Given the description of an element on the screen output the (x, y) to click on. 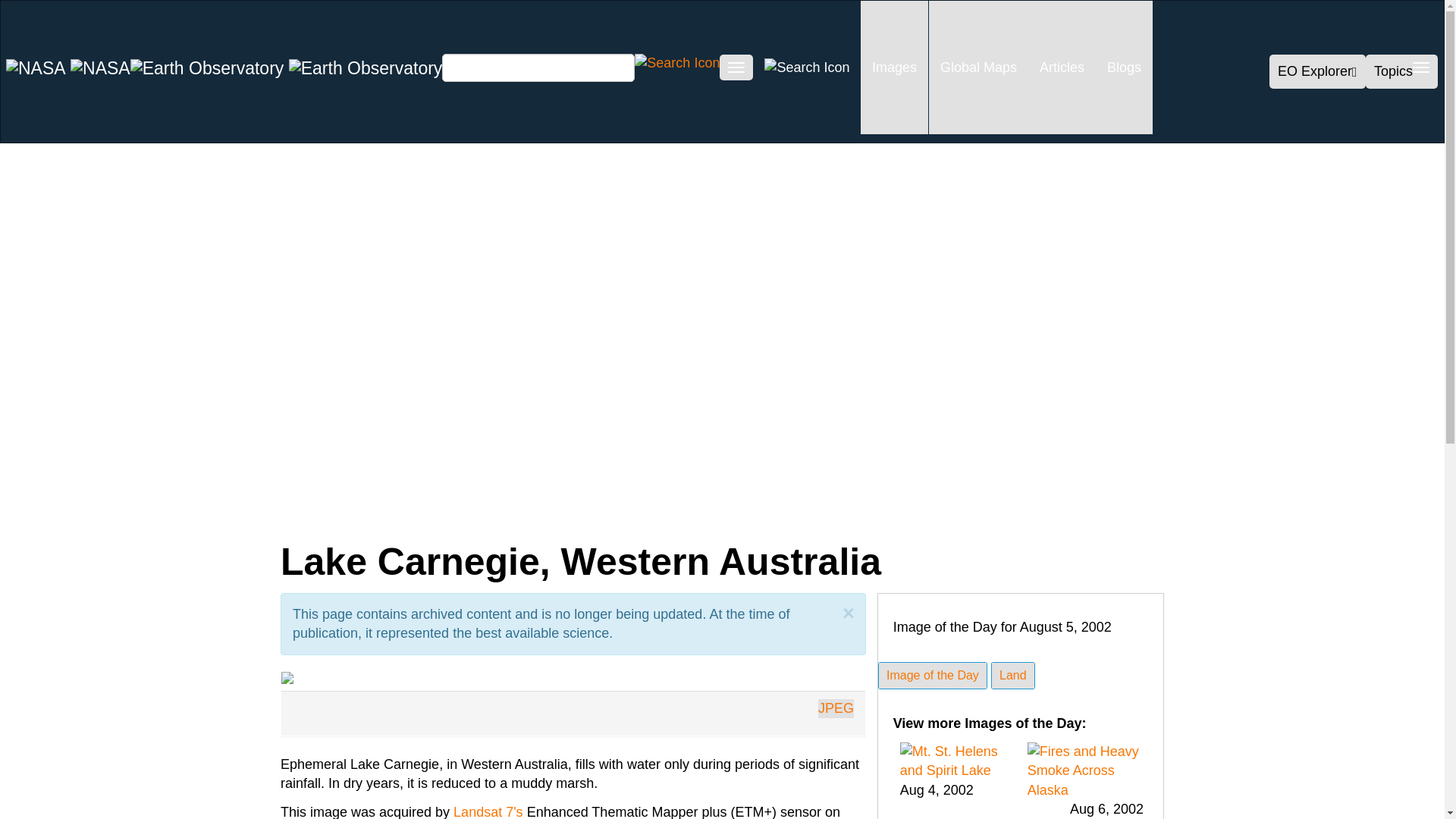
Share (161, 512)
Print (510, 512)
Search (676, 61)
